Given the description of an element on the screen output the (x, y) to click on. 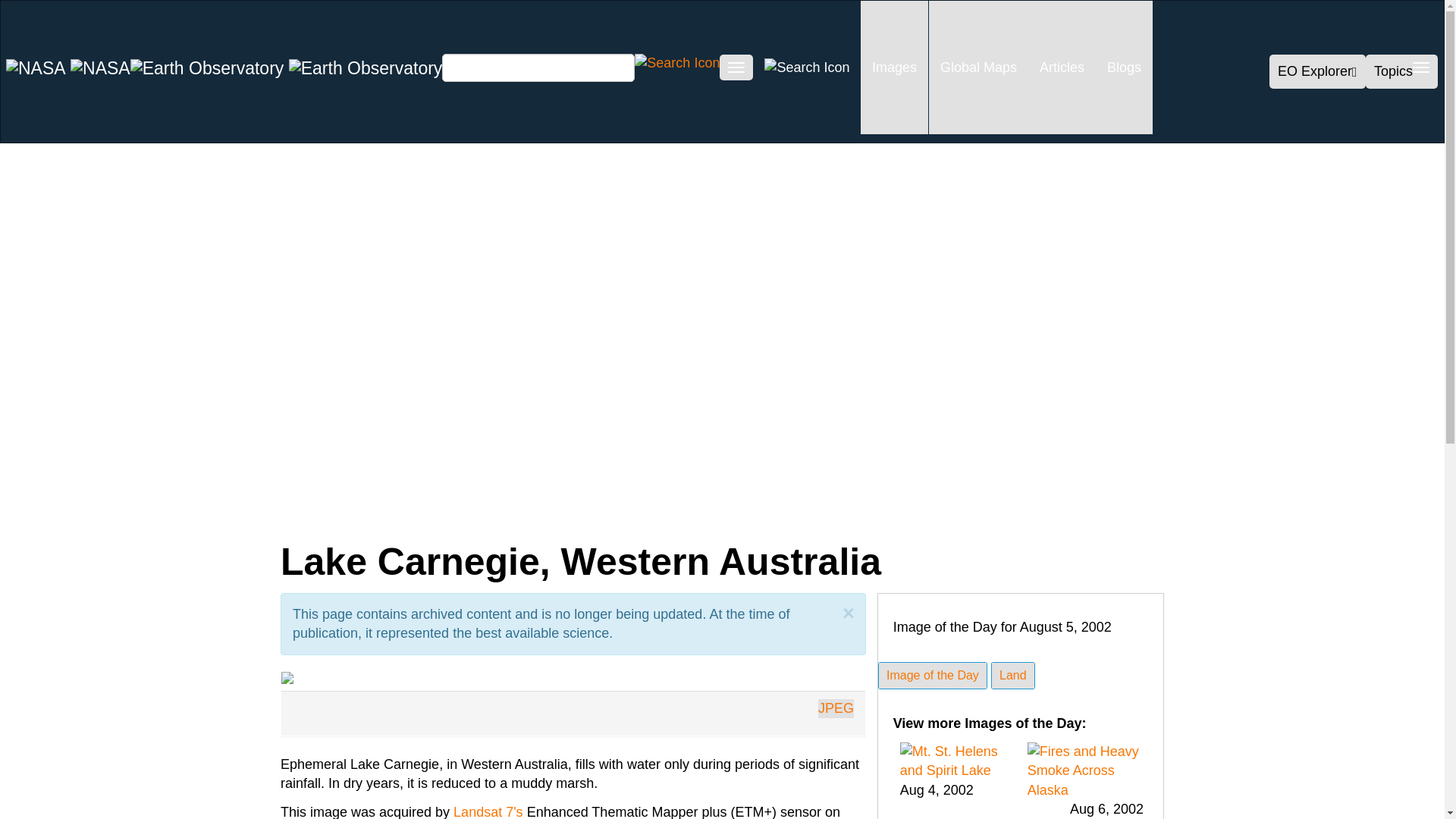
Share (161, 512)
Print (510, 512)
Search (676, 61)
